Given the description of an element on the screen output the (x, y) to click on. 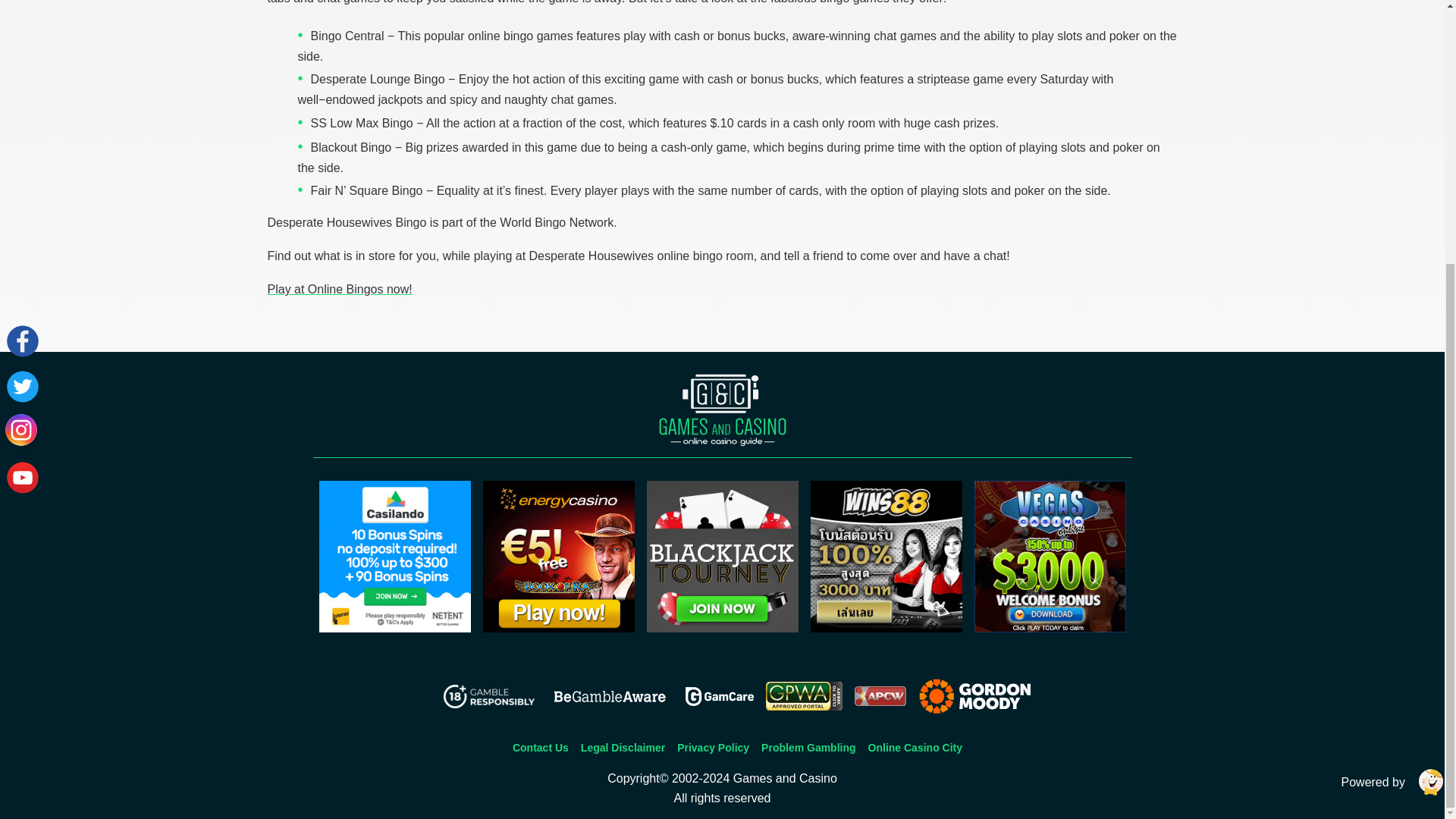
Vegas Crest Casino (721, 627)
Vegas Casino Online (1049, 627)
Casilando (394, 627)
Wins88 Casino (884, 627)
EnergyCasino (557, 627)
Games and Casinos - online casino guide (722, 409)
